Given the description of an element on the screen output the (x, y) to click on. 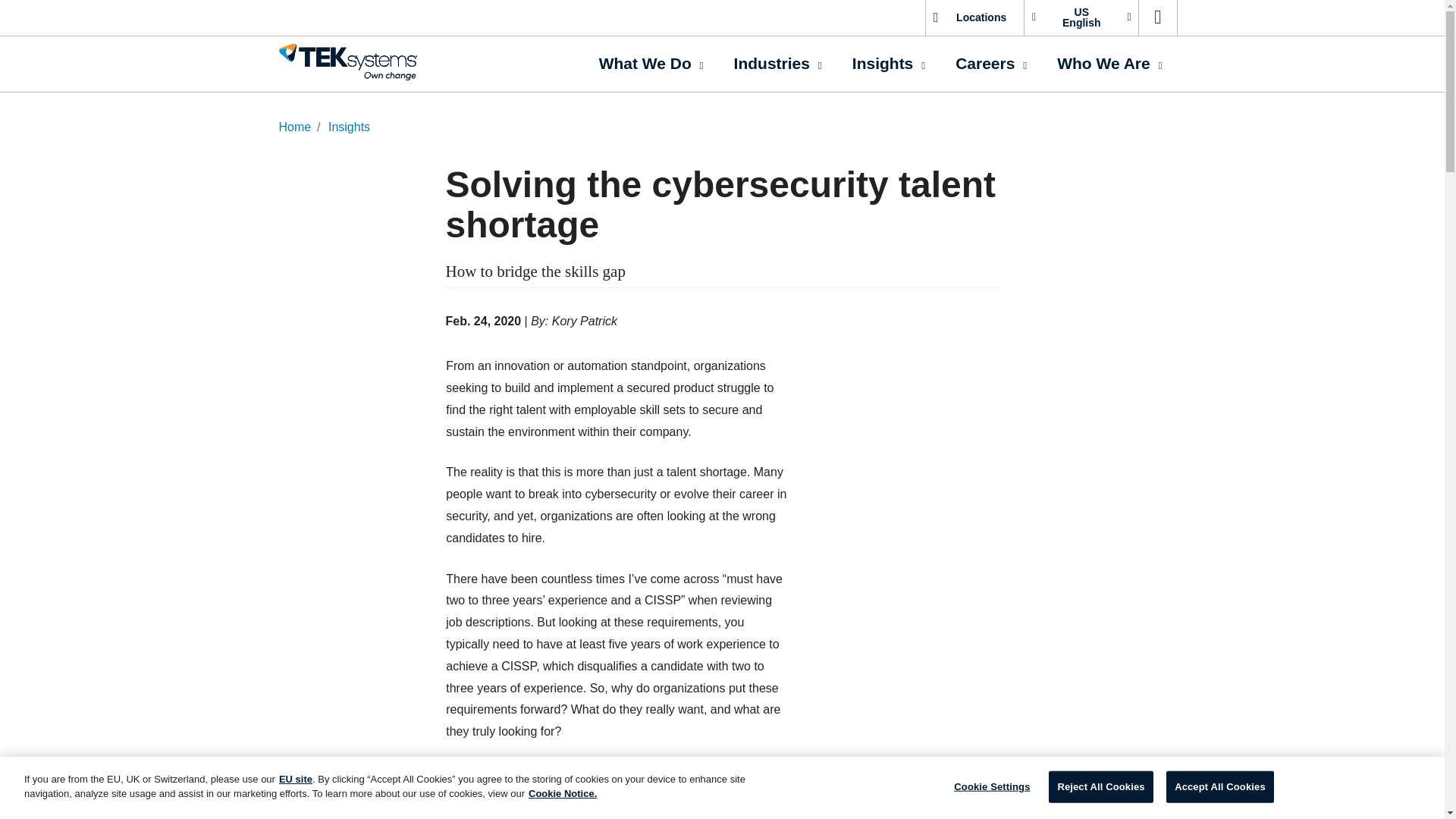
What We Do (651, 63)
Search (1157, 18)
Locations (973, 18)
